Given the description of an element on the screen output the (x, y) to click on. 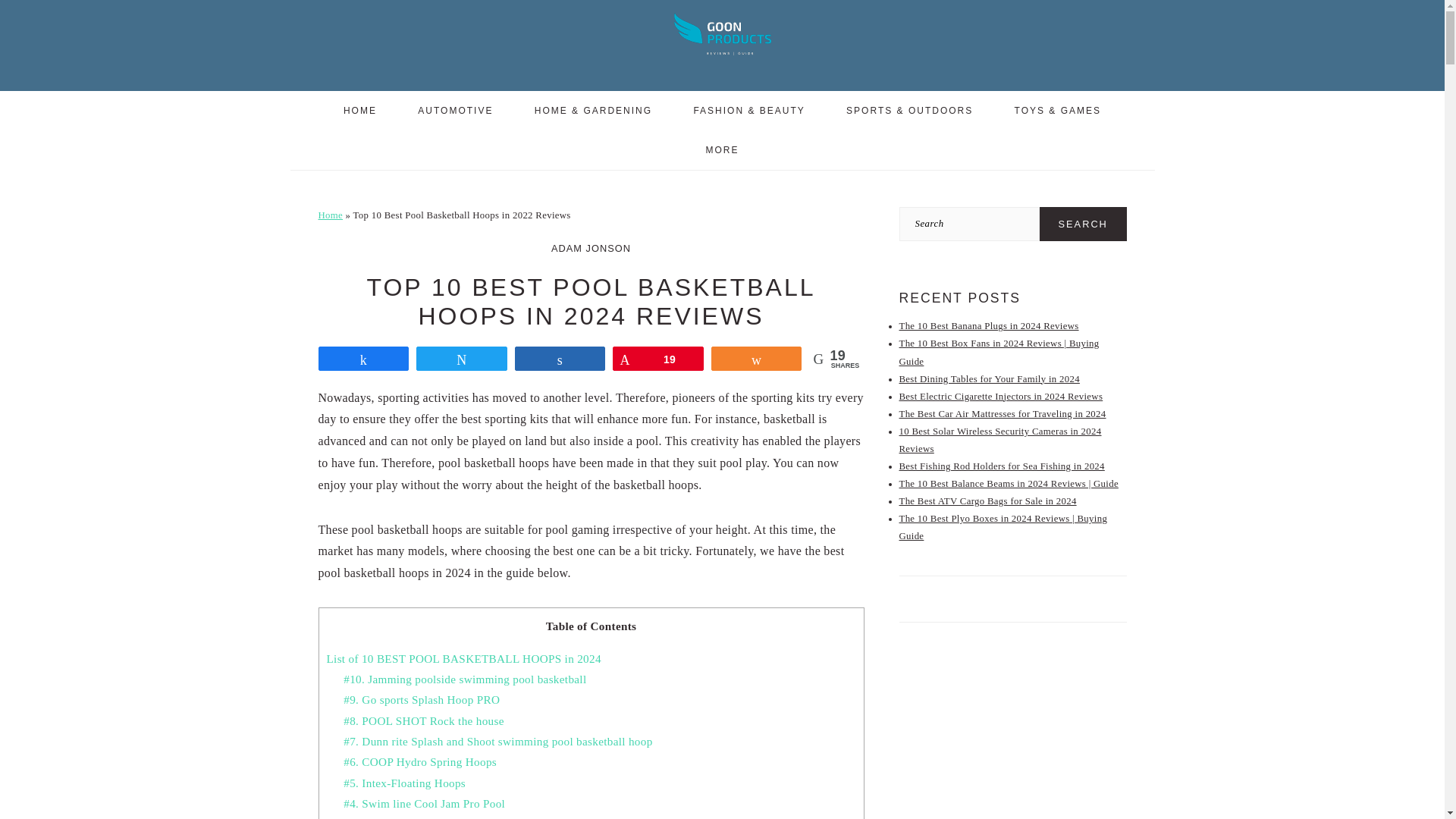
Search (1082, 223)
AUTOMOTIVE (455, 110)
Home (330, 214)
MORE (722, 149)
List of 10 BEST POOL BASKETBALL HOOPS in 2024 (462, 658)
Search (1082, 223)
19 (657, 358)
HOME (360, 110)
GoOnProducts (721, 33)
GoOnProducts (721, 59)
